Given the description of an element on the screen output the (x, y) to click on. 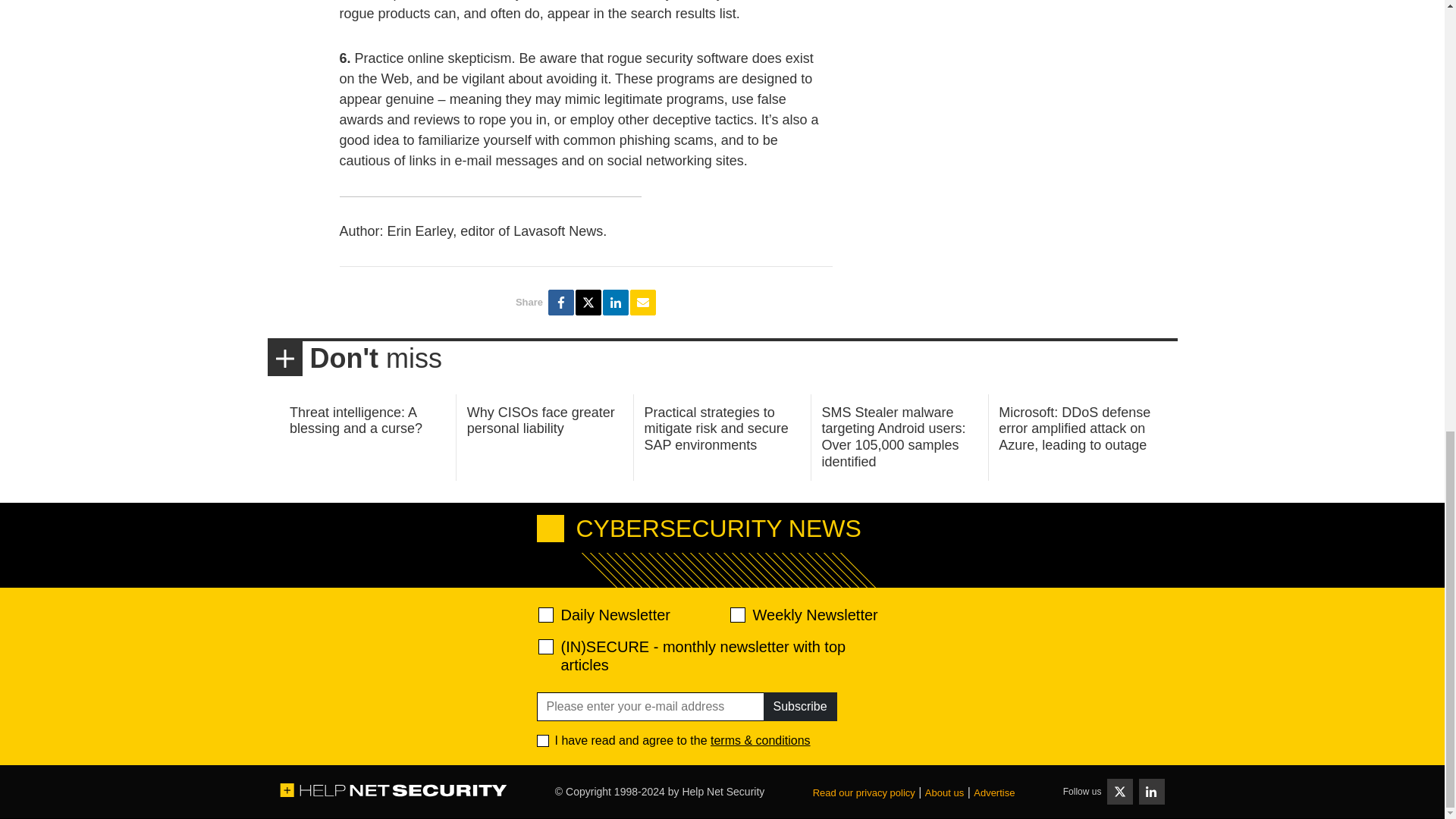
Why CISOs face greater personal liability (540, 420)
Share How to avoid rogue security software via E-mail (643, 302)
Share How to avoid rogue security software on Facebook (560, 302)
Share How to avoid rogue security software on Twitter (588, 302)
Threat intelligence: A blessing and a curse? (355, 420)
d2d471aafa (736, 614)
520ac2f639 (545, 614)
Share How to avoid rogue security software on LinkedIn (615, 302)
28abe5d9ef (545, 646)
